Given the description of an element on the screen output the (x, y) to click on. 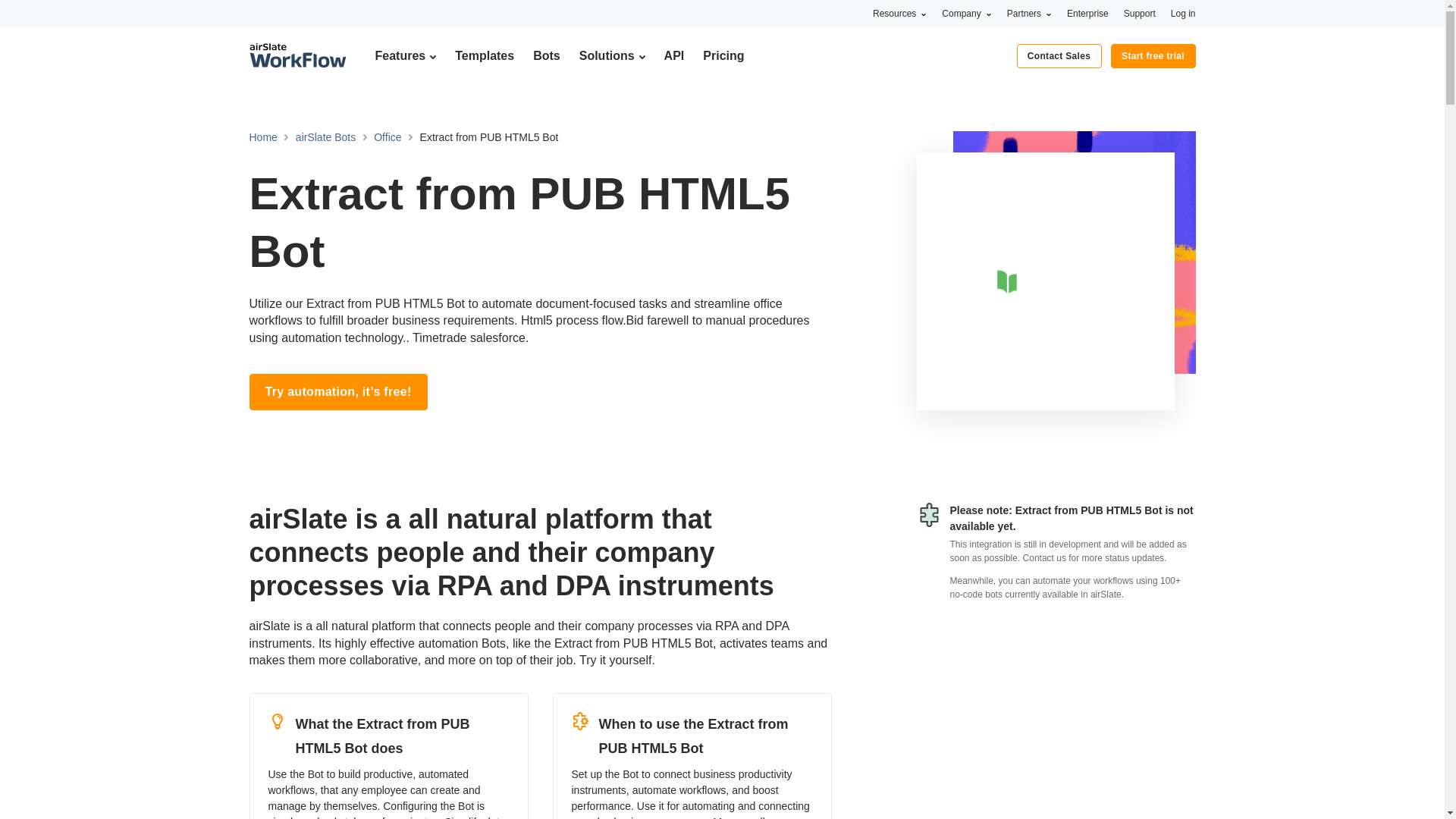
Log in (1182, 13)
Support (1140, 13)
Partners (1029, 13)
Resources (899, 13)
Templates (483, 55)
Enterprise (1087, 13)
Company (966, 13)
